Given the description of an element on the screen output the (x, y) to click on. 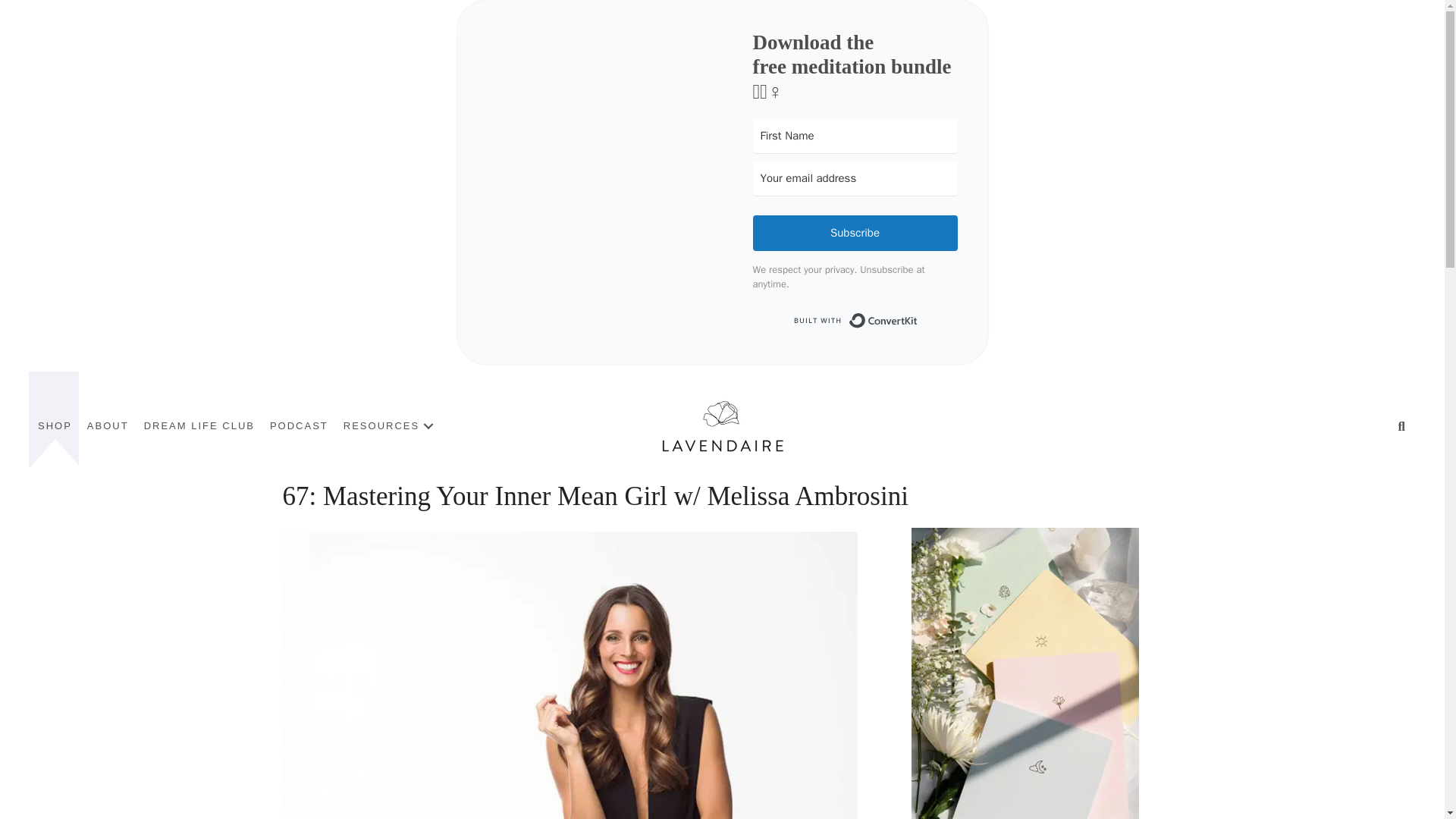
PODCAST (299, 426)
ABOUT (108, 426)
RESOURCES (390, 426)
DREAM LIFE CLUB (199, 426)
Built with ConvertKit (854, 320)
Subscribe (854, 232)
SHOP (55, 426)
